Given the description of an element on the screen output the (x, y) to click on. 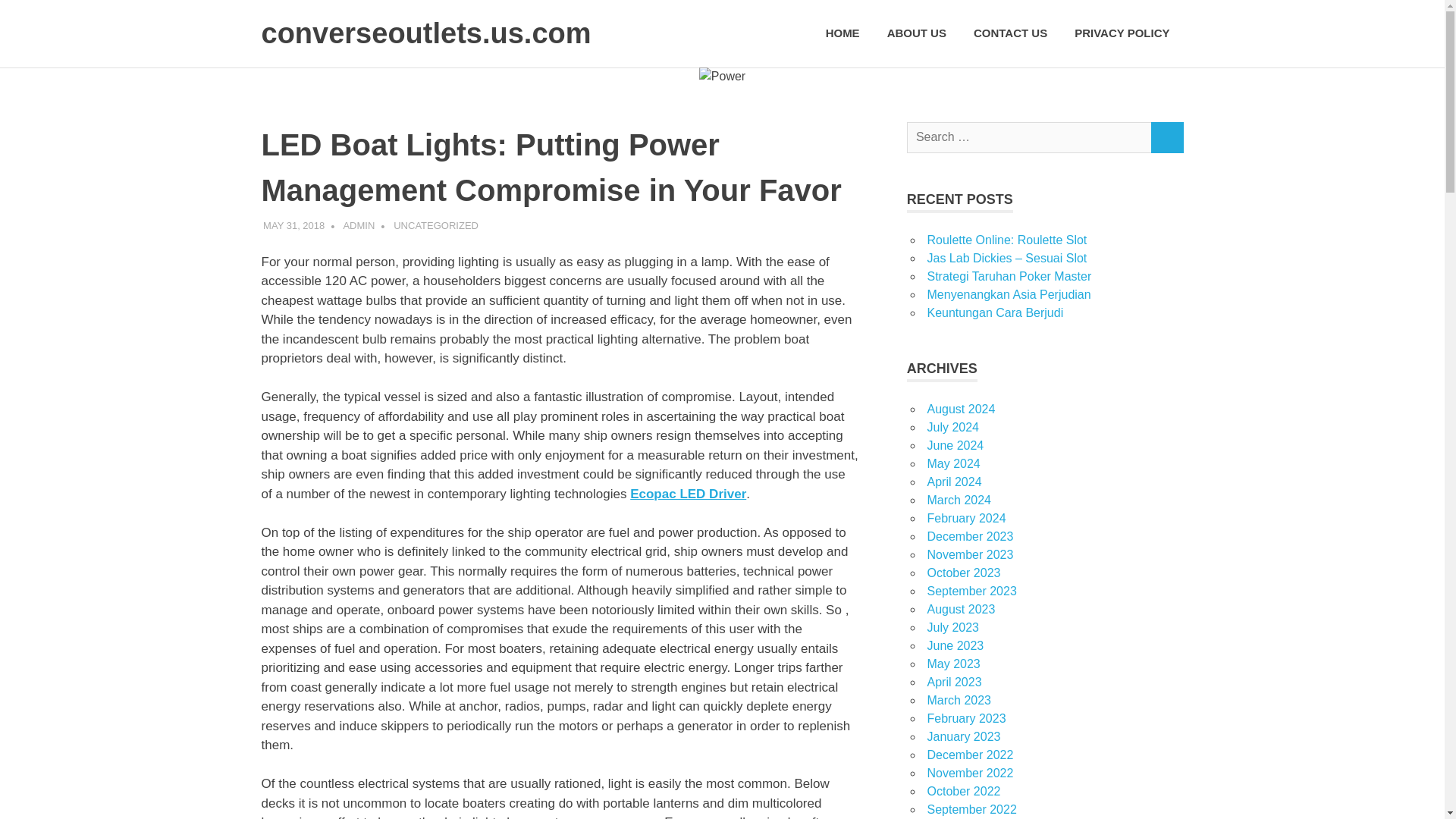
Ecopac LED Driver (687, 493)
March 2024 (958, 499)
CONTACT US (1010, 33)
HOME (842, 33)
Roulette Online: Roulette Slot (1006, 239)
February 2024 (966, 517)
April 2024 (953, 481)
converseoutlets.us.com (425, 33)
MAY 31, 2018 (293, 225)
July 2023 (952, 626)
